Given the description of an element on the screen output the (x, y) to click on. 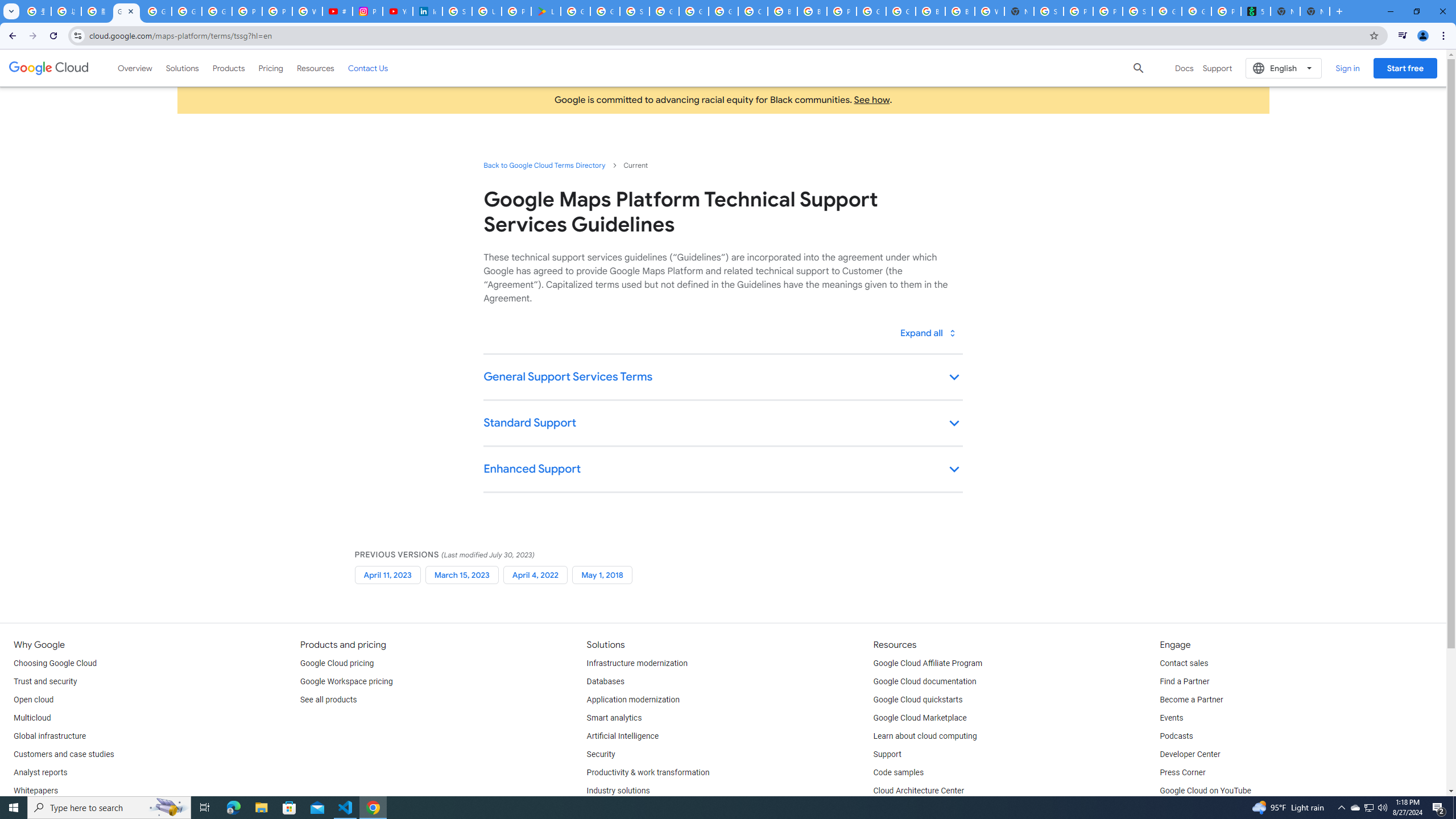
Google Cloud (48, 67)
Sign in - Google Accounts (456, 11)
Contact sales (1183, 663)
Analyst reports (39, 773)
Industry solutions (617, 791)
Standard Support keyboard_arrow_down (722, 424)
YouTube Culture & Trends - On The Rise: Handcam Videos (397, 11)
Google Cloud Platform (900, 11)
Google Workspace pricing (346, 682)
Sign in - Google Accounts (634, 11)
